Given the description of an element on the screen output the (x, y) to click on. 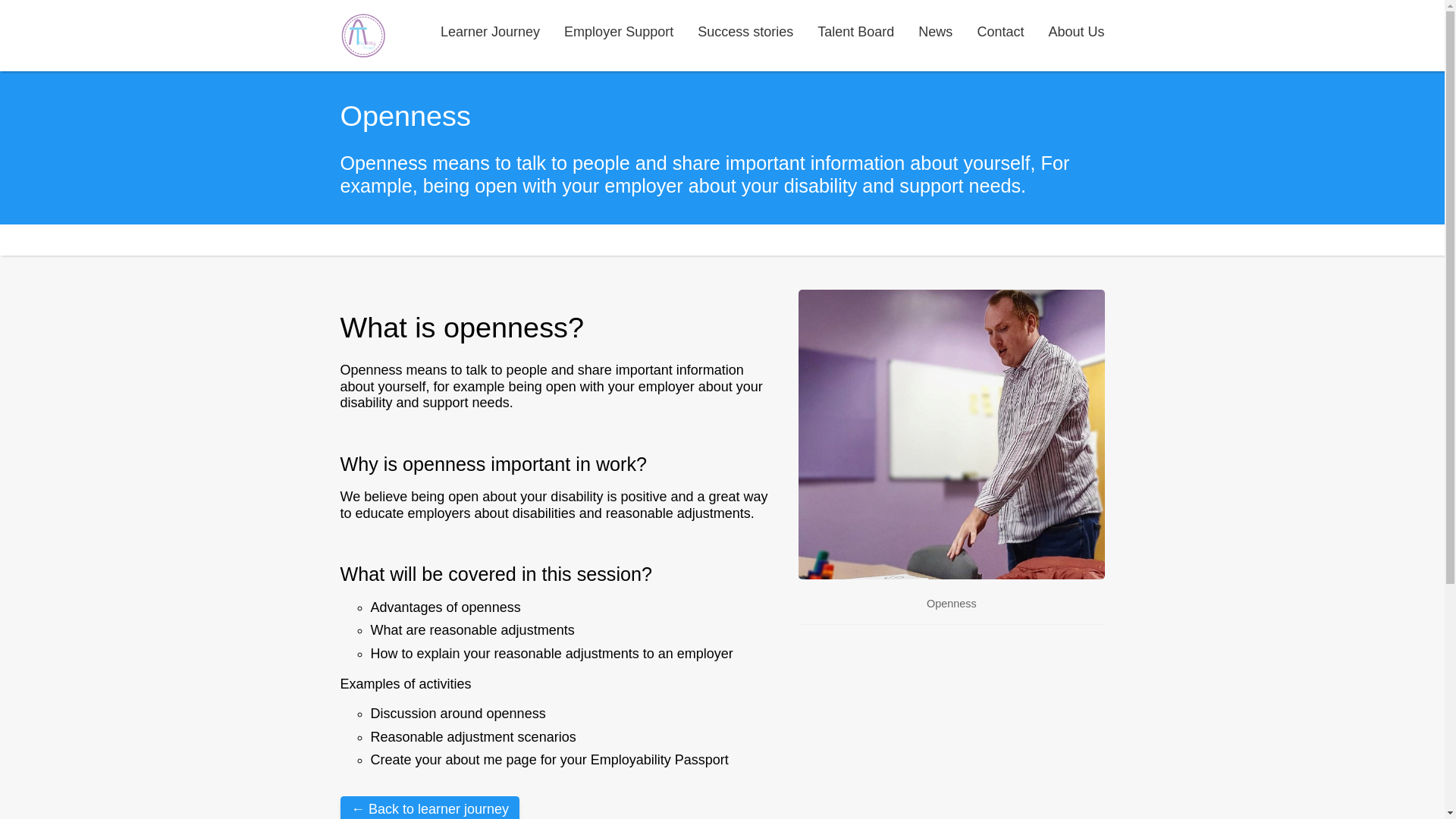
Talent Board (854, 31)
News (935, 31)
News (935, 31)
Success stories (745, 31)
About Us (1075, 31)
Success stories (745, 31)
Learner Journey (490, 31)
About Us (1075, 31)
Contact (999, 31)
Videos (490, 31)
Talent Board (854, 31)
Contact (999, 31)
Learner Journey (429, 807)
Employer Support (618, 31)
Employer Support (618, 31)
